Given the description of an element on the screen output the (x, y) to click on. 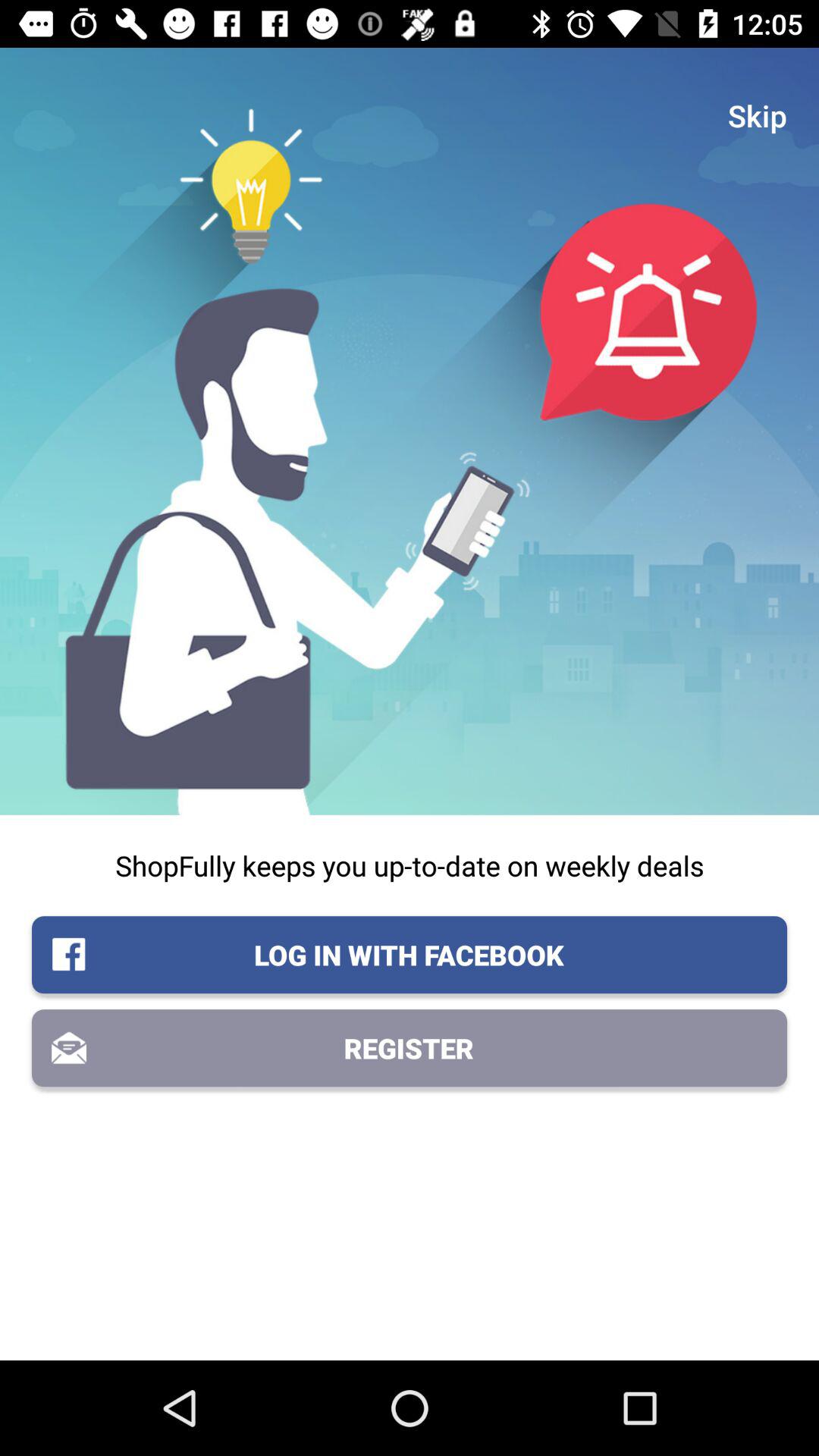
launch icon below log in with icon (409, 1047)
